Given the description of an element on the screen output the (x, y) to click on. 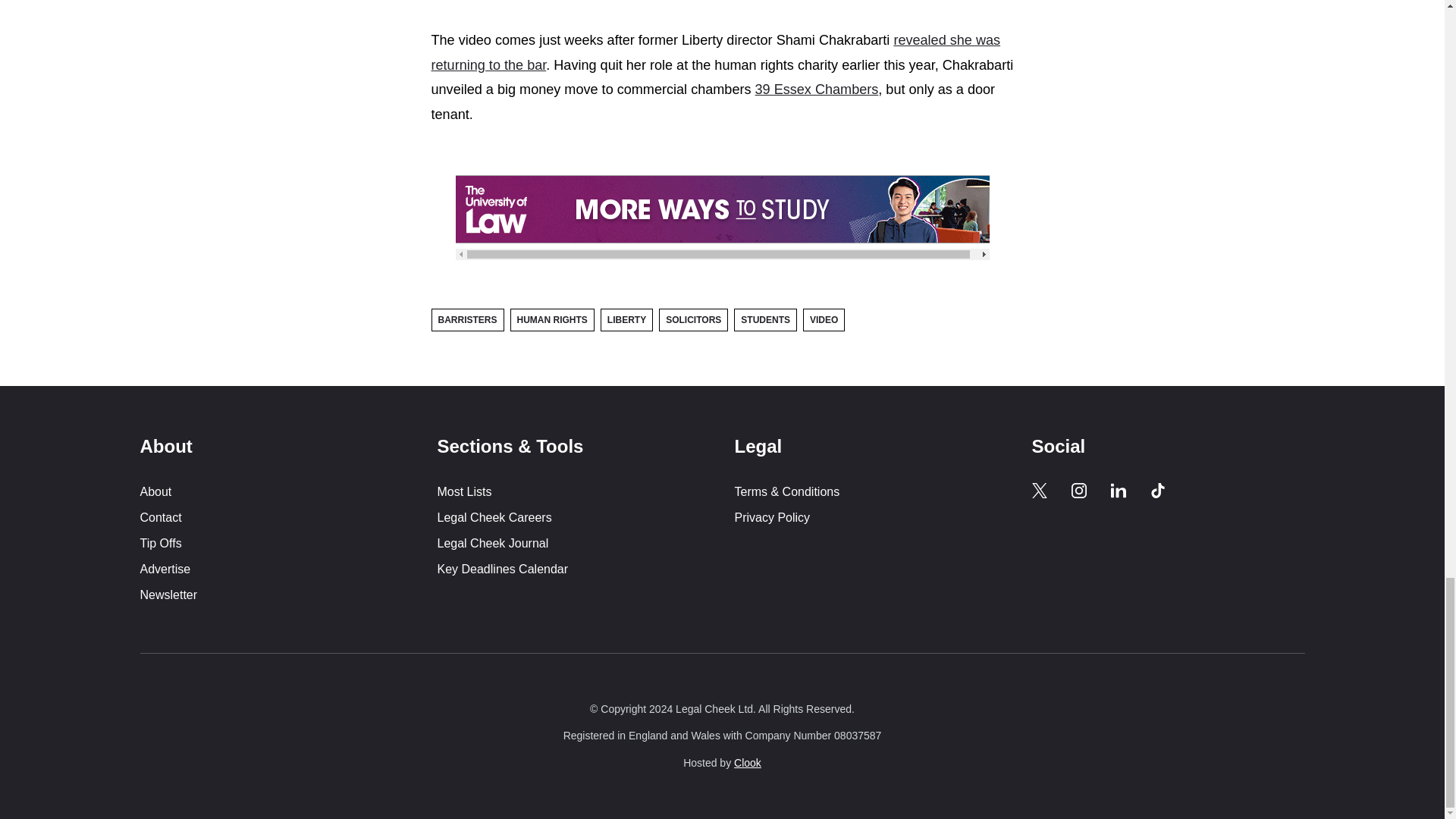
BARRISTERS (466, 319)
Legal Cheek Instagram (1078, 490)
39 Essex Chambers (817, 89)
Legal Cheek Tik Tok (1157, 490)
revealed she was returning to the bar (715, 52)
HUMAN RIGHTS (552, 319)
Legal Cheek LinkedIn (1117, 490)
Legal Cheek Twitter (1038, 490)
LIBERTY (625, 319)
advertisement (721, 209)
